Given the description of an element on the screen output the (x, y) to click on. 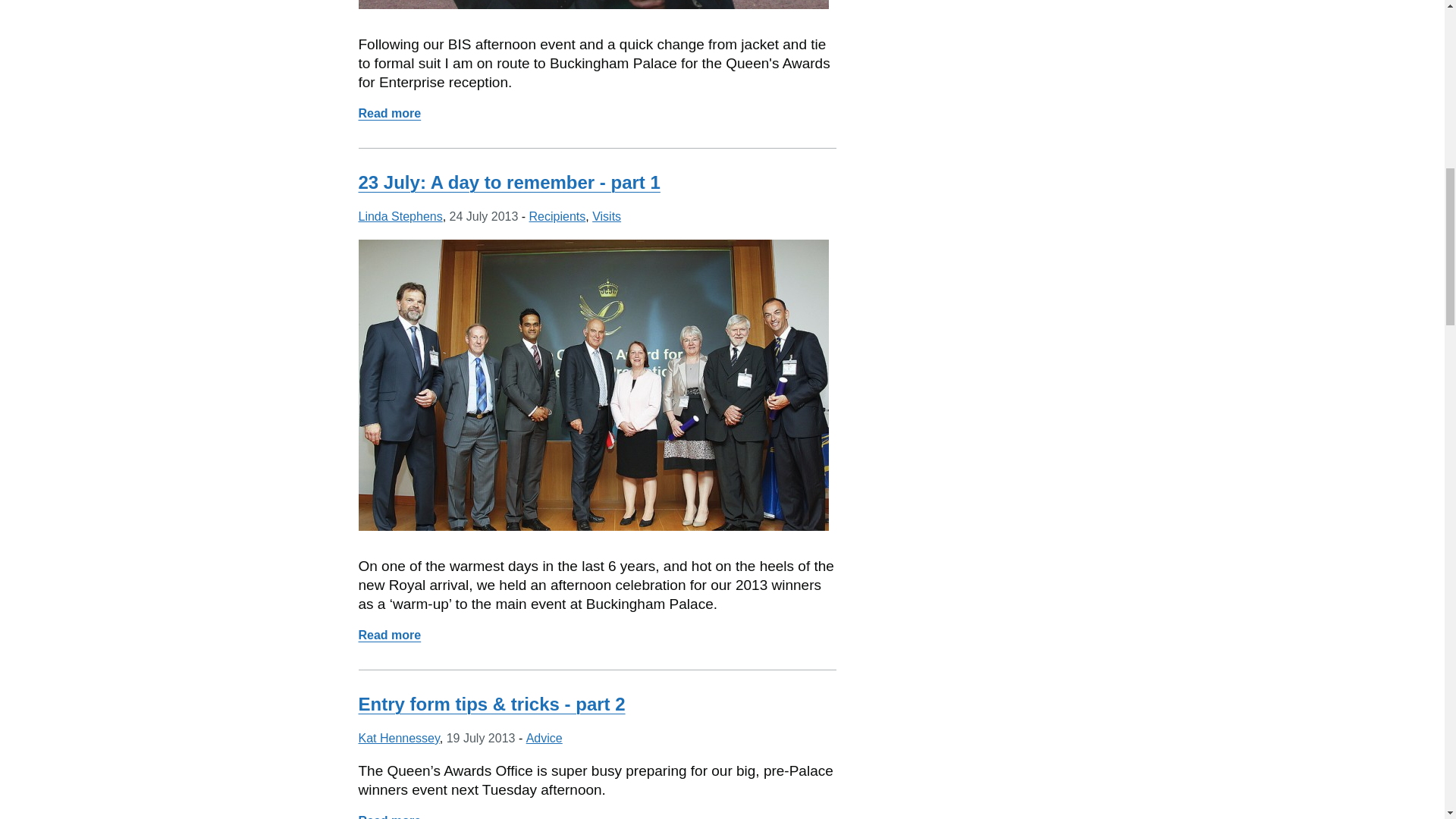
Kat Hennessey (398, 738)
Advice (543, 738)
Visits (606, 215)
Posts by Kat Hennessey (398, 738)
Recipients (557, 215)
Posts by Linda Stephens (400, 215)
Linda Stephens (400, 215)
23 July: A day to remember - part 1 (508, 181)
